Given the description of an element on the screen output the (x, y) to click on. 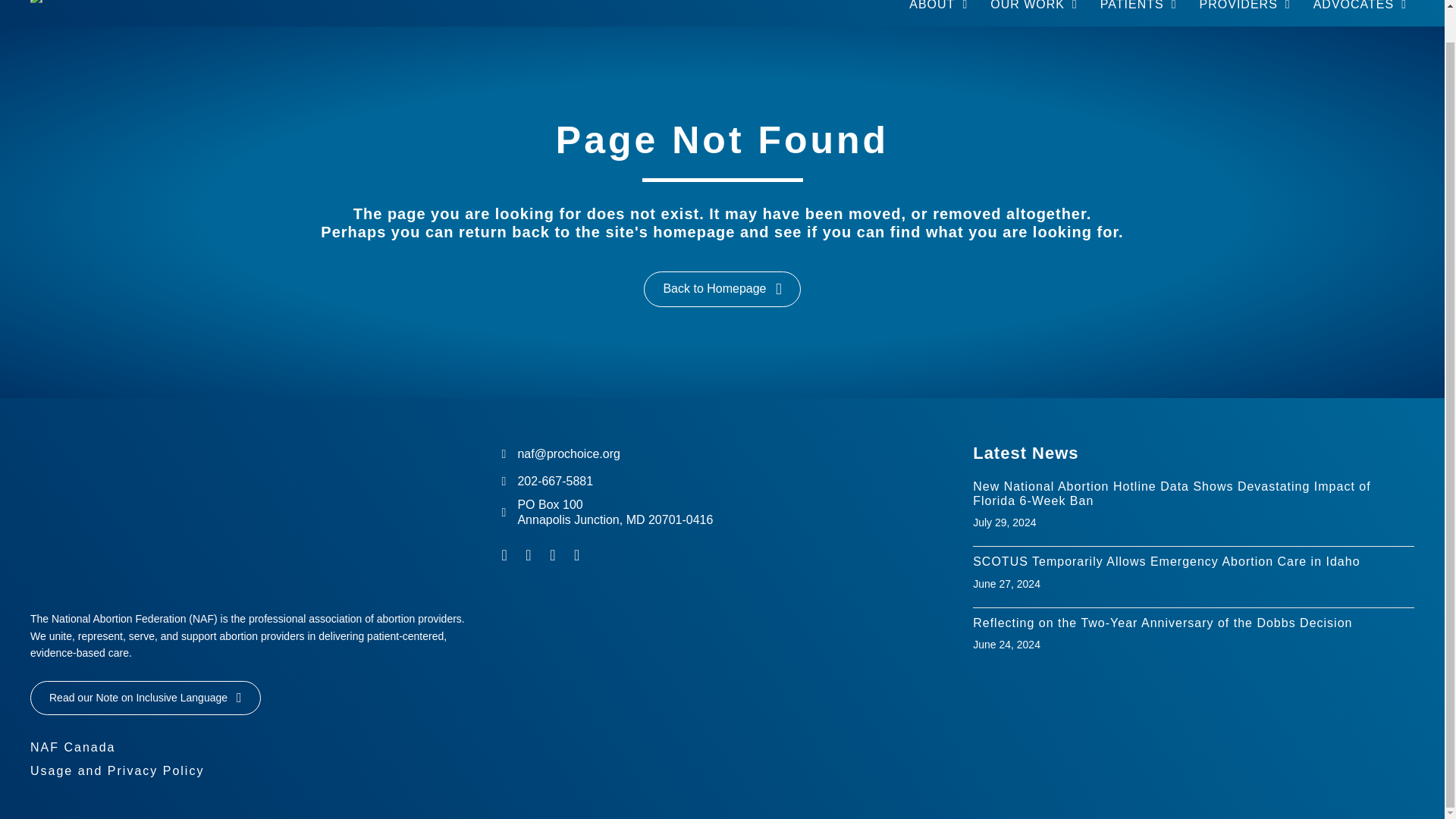
PROVIDERS (1245, 9)
SCOTUS Temporarily Allows Emergency Abortion Care in Idaho (1165, 561)
ABOUT (938, 9)
OUR WORK (1033, 9)
PATIENTS (1139, 9)
ADVOCATES (1359, 9)
